Given the description of an element on the screen output the (x, y) to click on. 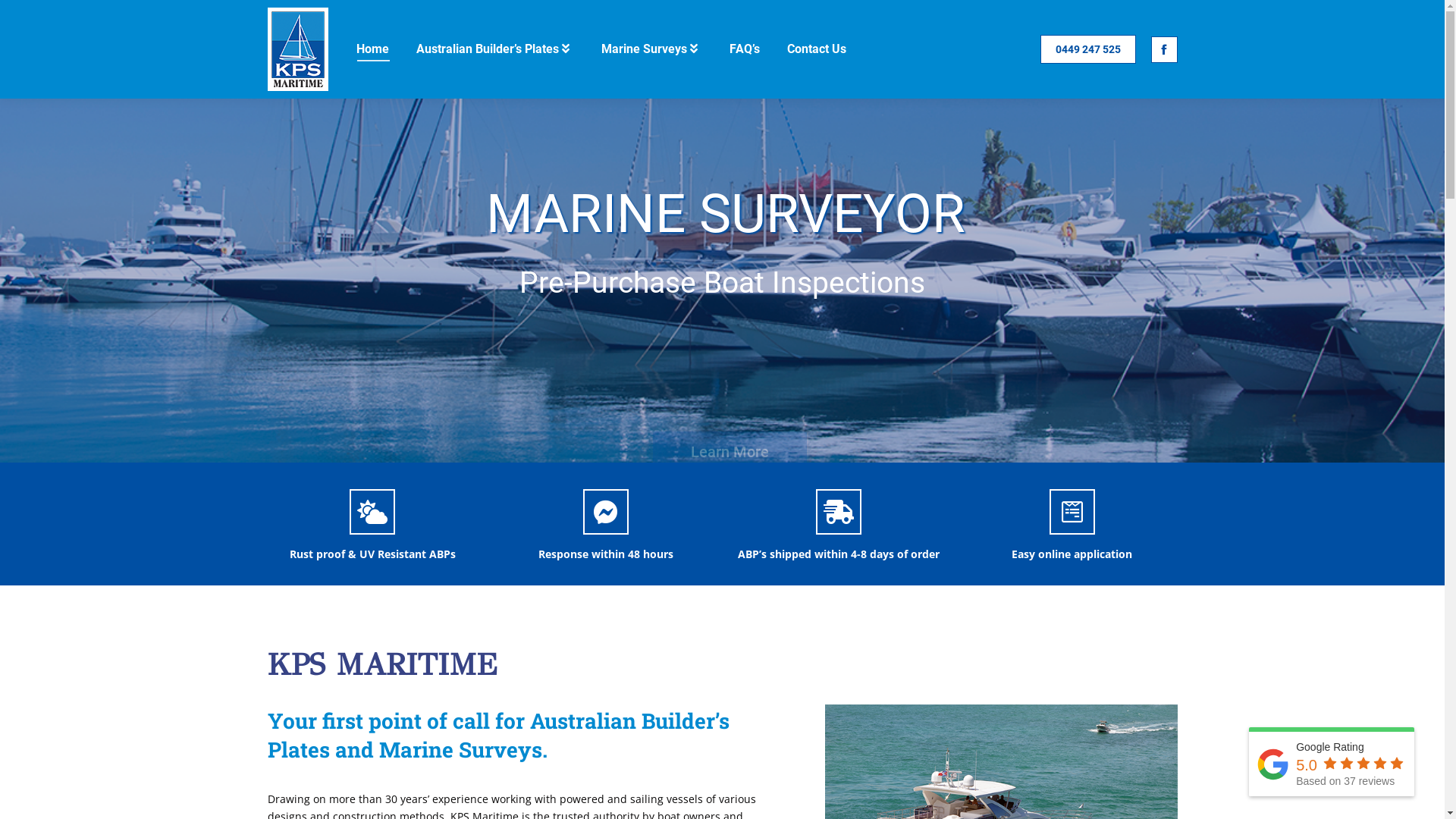
Facebook page opens in new window Element type: text (1164, 49)
0449 247 525 Element type: text (1087, 48)
Marine Surveys Element type: text (650, 48)
Home Element type: text (372, 48)
Apply Online Element type: text (879, 354)
Contact Us Element type: text (816, 48)
